Given the description of an element on the screen output the (x, y) to click on. 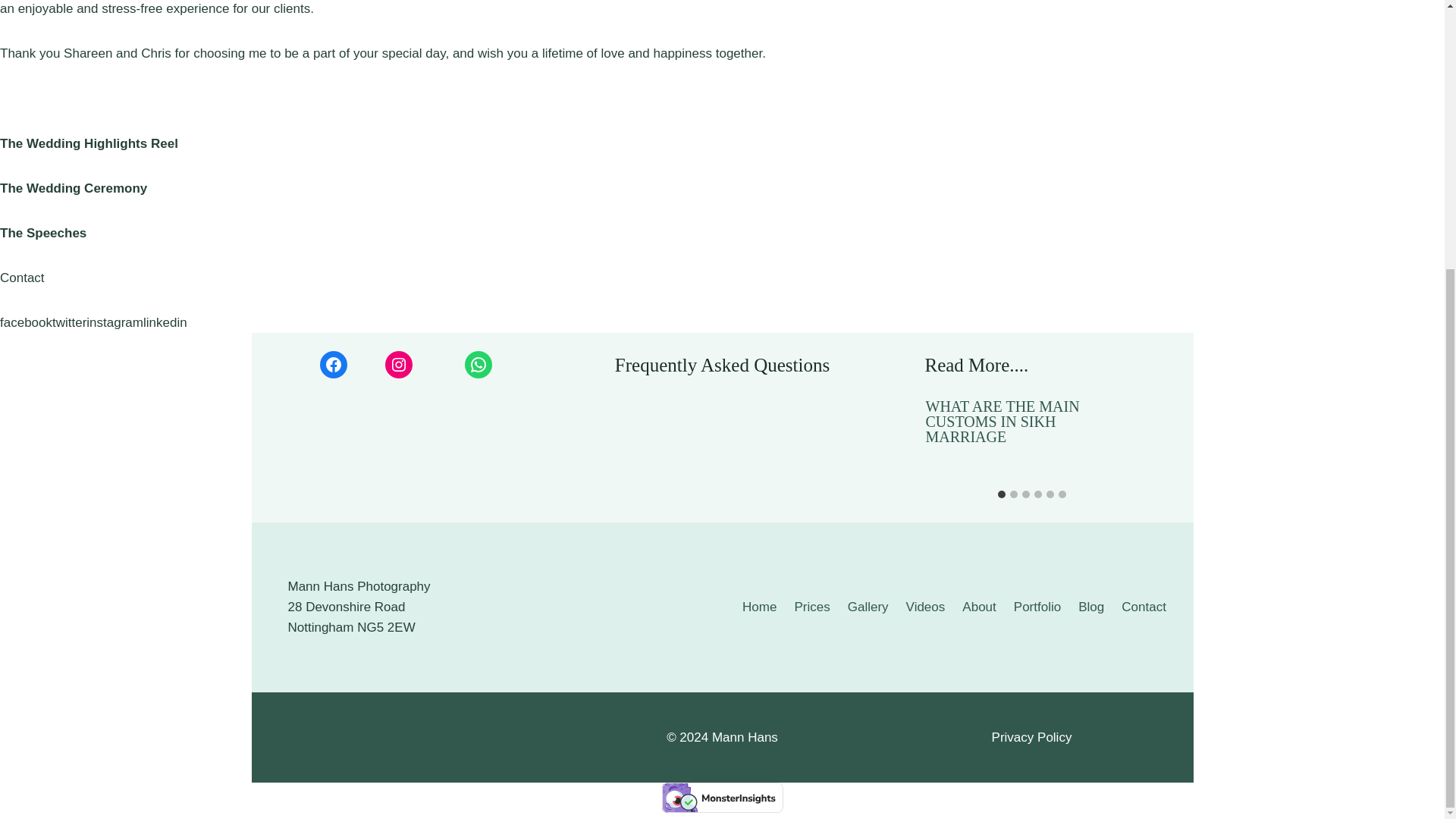
WHAT ARE THE MAIN CUSTOMS IN SIKH MARRIAGE (1030, 421)
Verified by MonsterInsights (722, 797)
WhatsApp (478, 364)
Home (759, 606)
Frequently Asked Questions (721, 364)
Prices (812, 606)
Facebook (333, 364)
Instagram (398, 364)
